Given the description of an element on the screen output the (x, y) to click on. 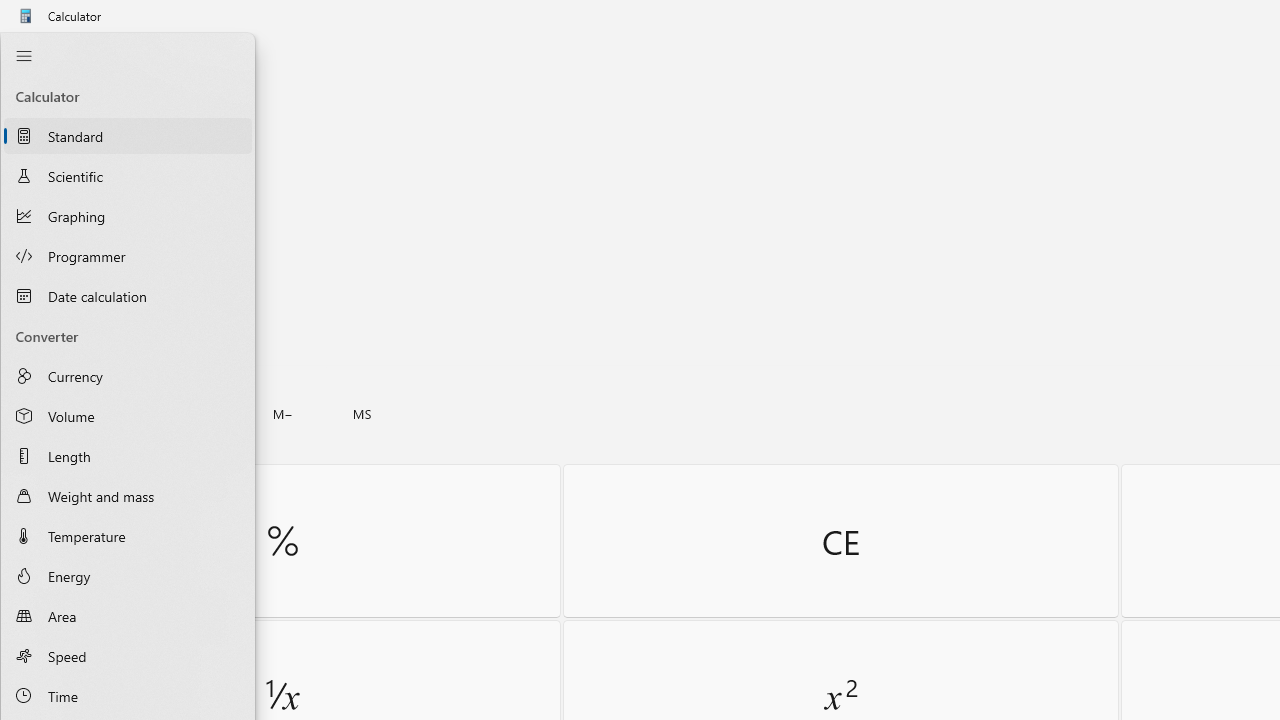
Energy Converter (127, 576)
Close Navigation (23, 56)
Area Converter (127, 616)
Speed Converter (127, 655)
Volume Converter (127, 416)
Memory store (362, 414)
Standard Calculator (127, 136)
Temperature Converter (127, 535)
